Given the description of an element on the screen output the (x, y) to click on. 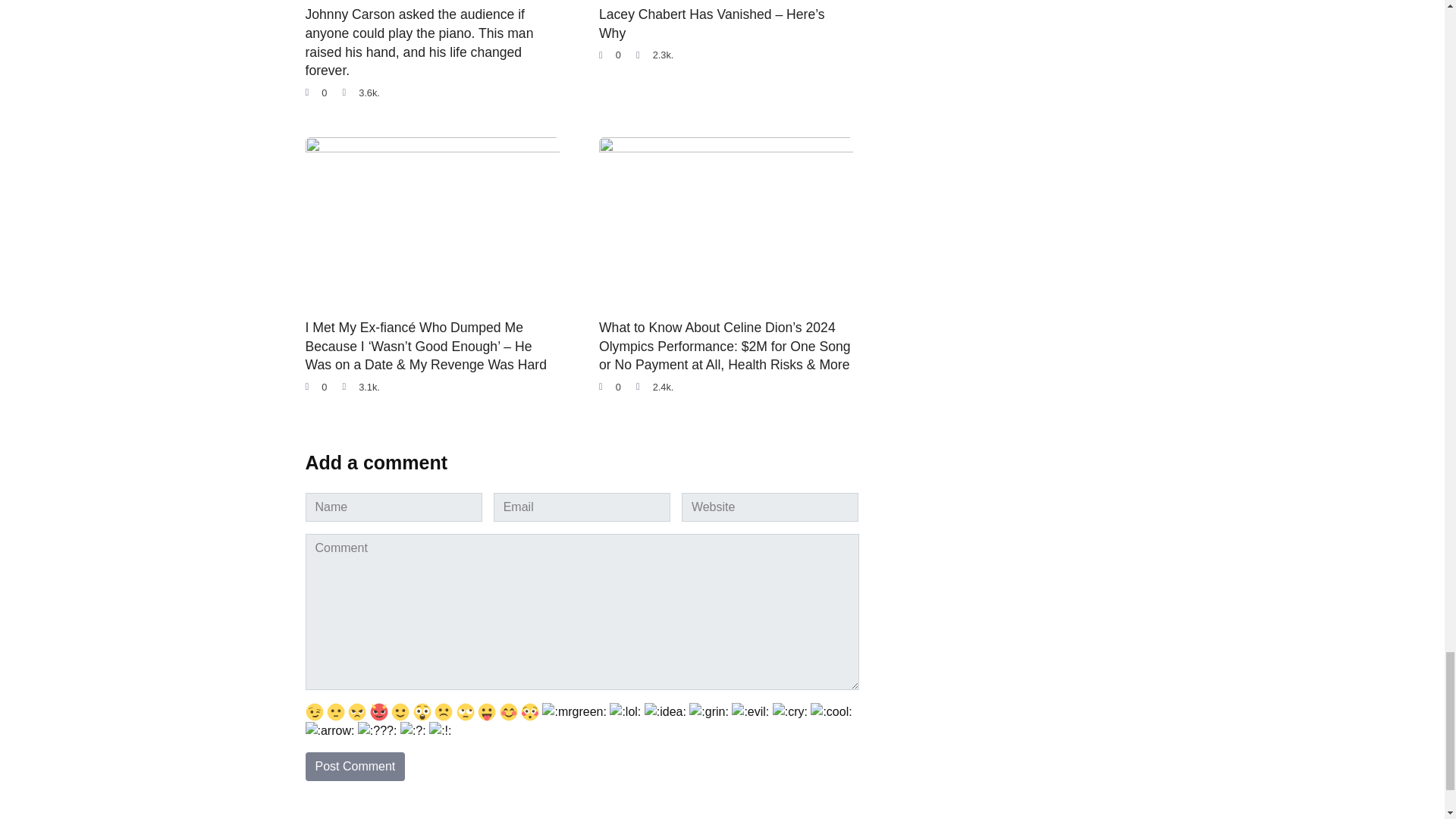
Post Comment (354, 766)
Post Comment (354, 766)
